Given the description of an element on the screen output the (x, y) to click on. 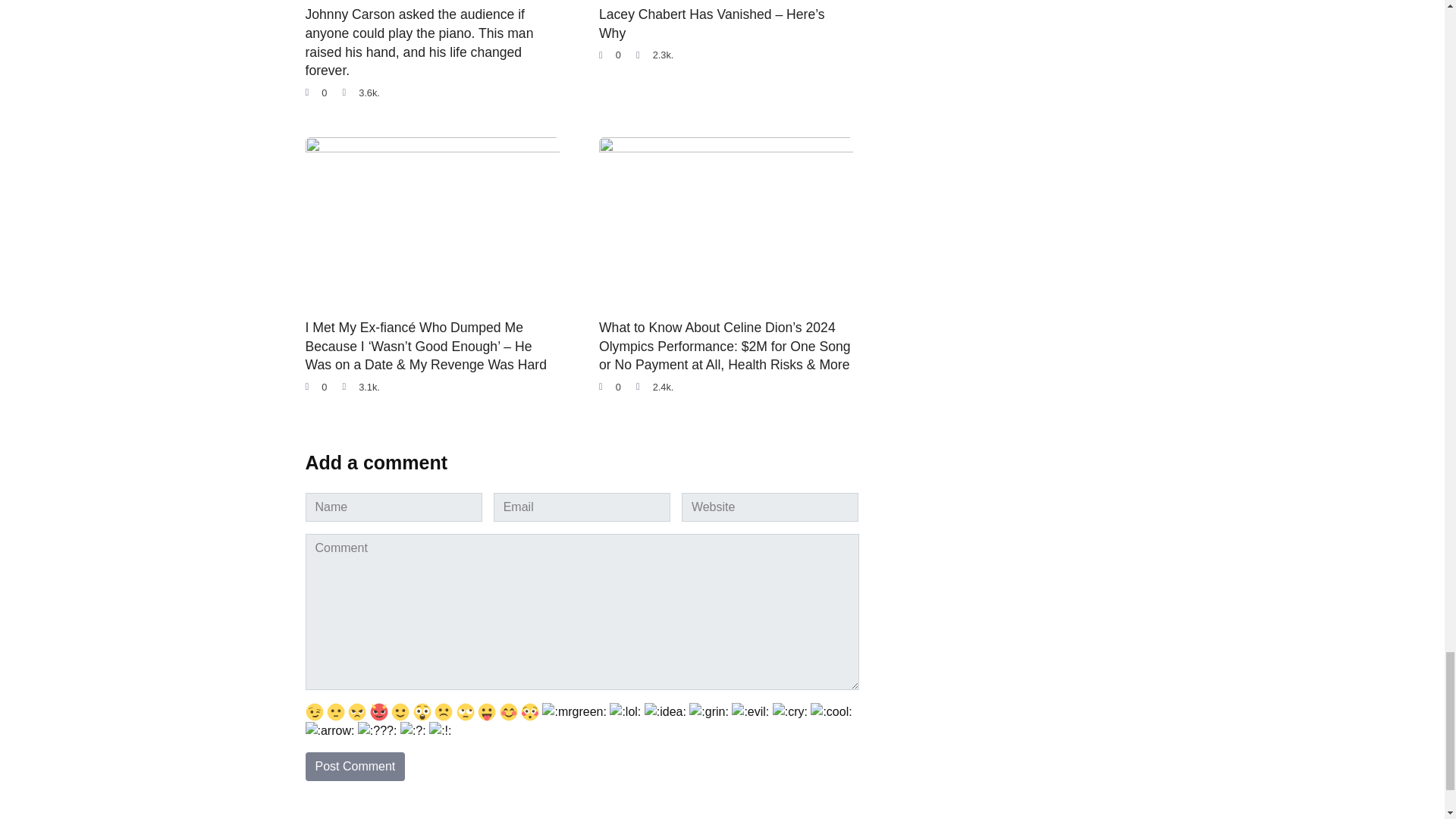
Post Comment (354, 766)
Post Comment (354, 766)
